Given the description of an element on the screen output the (x, y) to click on. 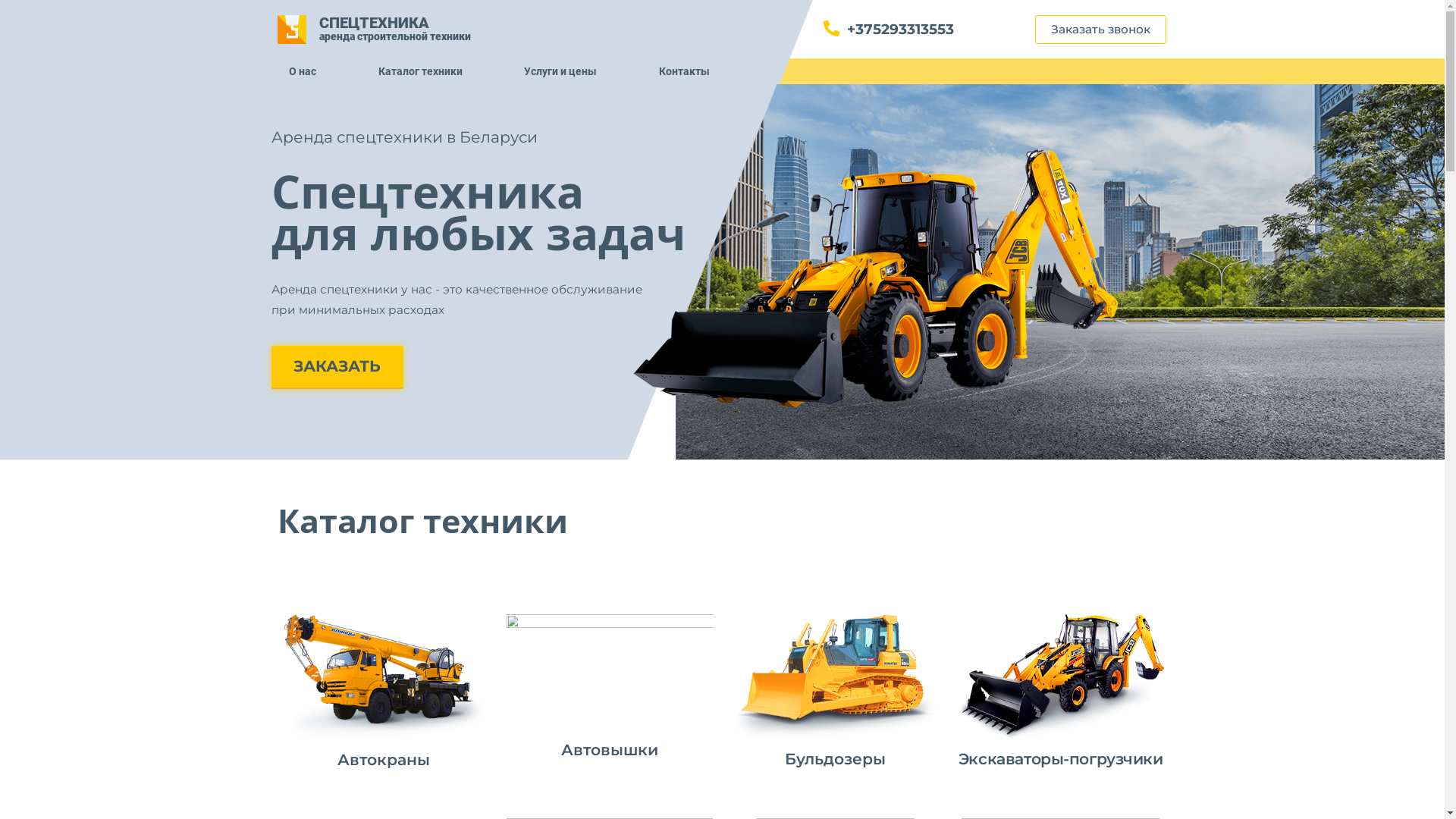
+375293313553 Element type: text (1045, 34)
